Given the description of an element on the screen output the (x, y) to click on. 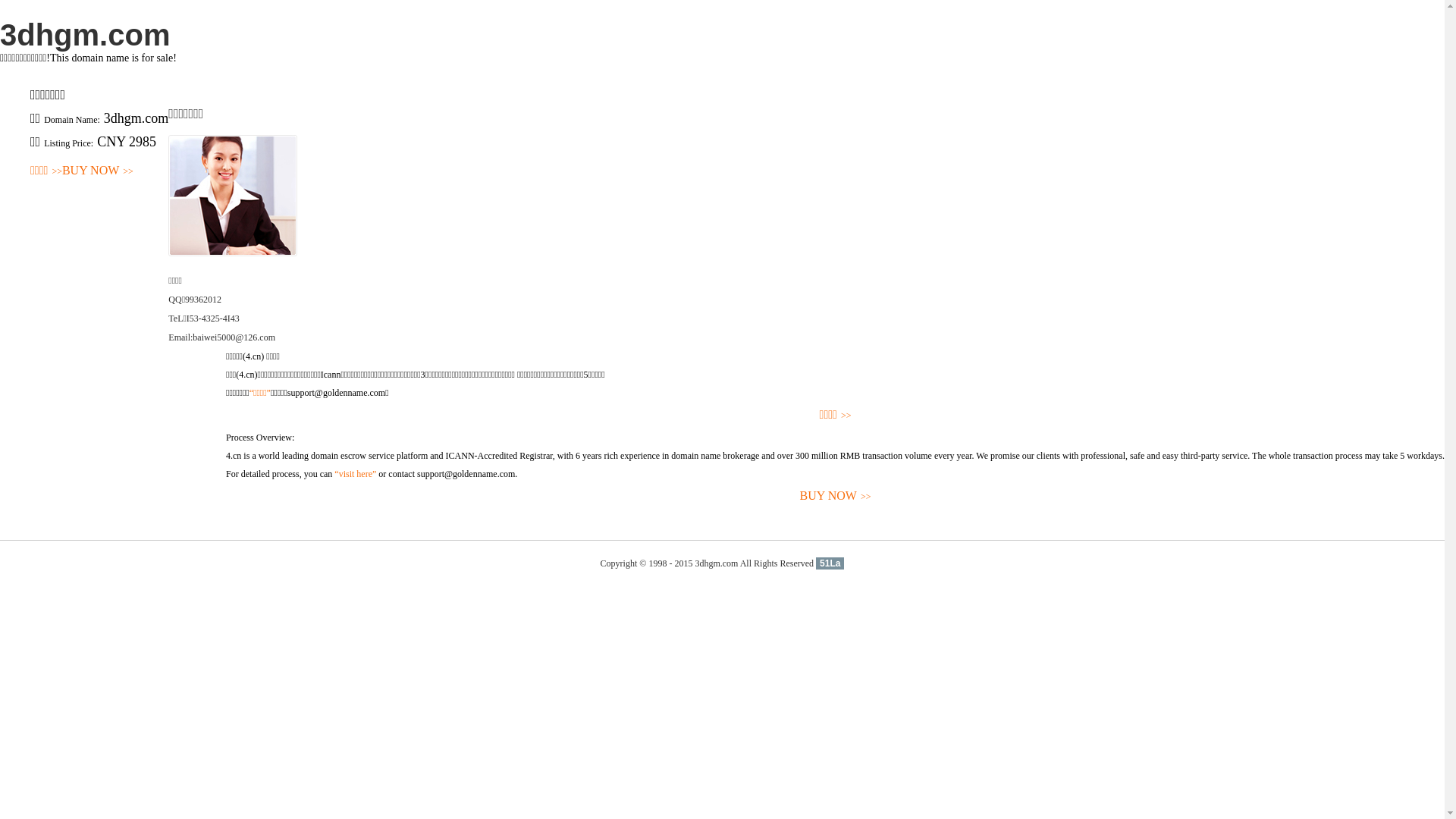
BUY NOW>> Element type: text (97, 170)
51La Element type: text (829, 563)
BUY NOW>> Element type: text (834, 496)
